Given the description of an element on the screen output the (x, y) to click on. 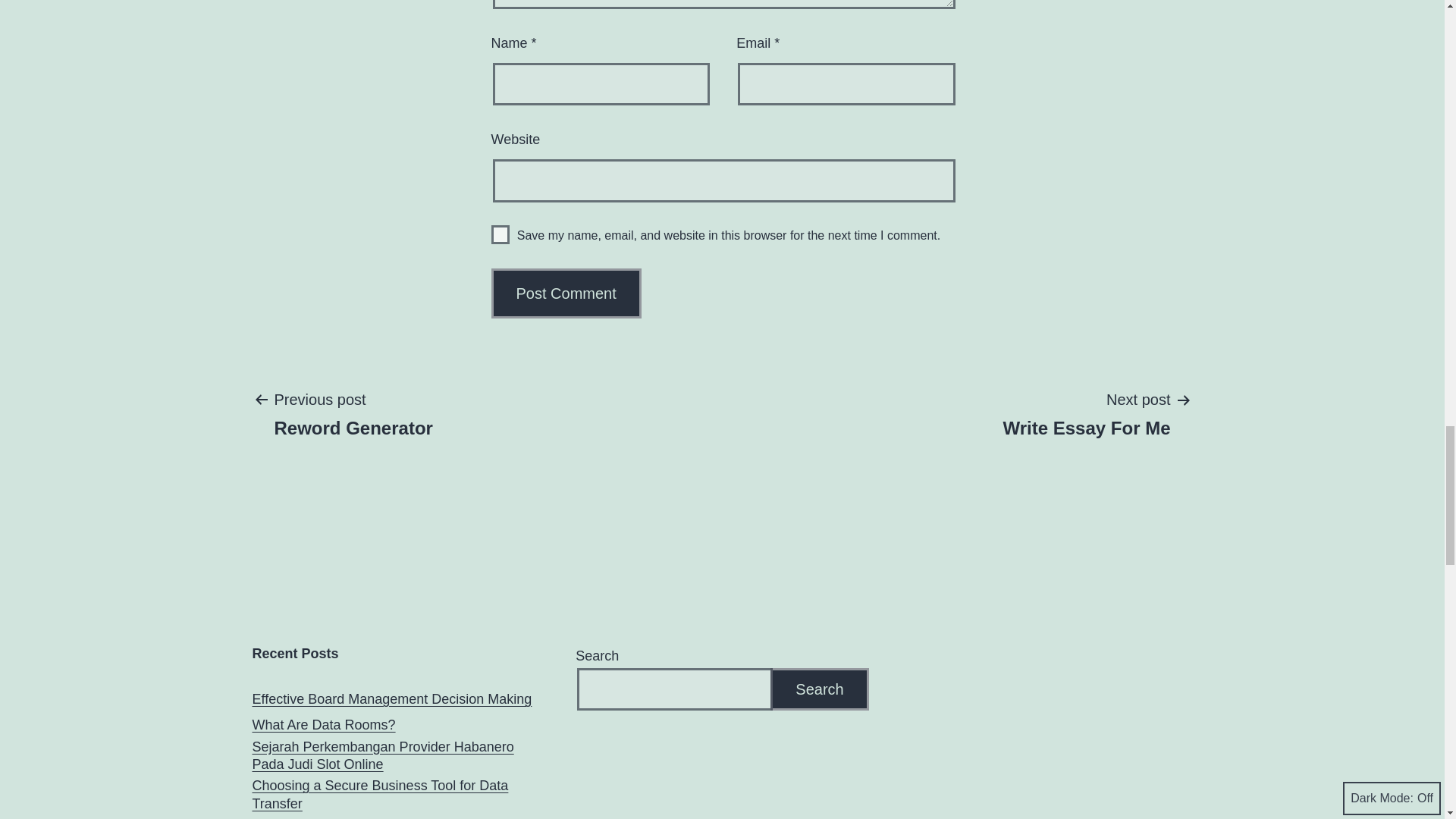
Choosing a Secure Business Tool for Data Transfer (394, 795)
Post Comment (1086, 412)
yes (567, 293)
What Are Data Rooms? (500, 234)
Post Comment (322, 724)
Effective Board Management Decision Making (567, 293)
Sejarah Perkembangan Provider Habanero Pada Judi Slot Online (391, 699)
Search (394, 755)
